Given the description of an element on the screen output the (x, y) to click on. 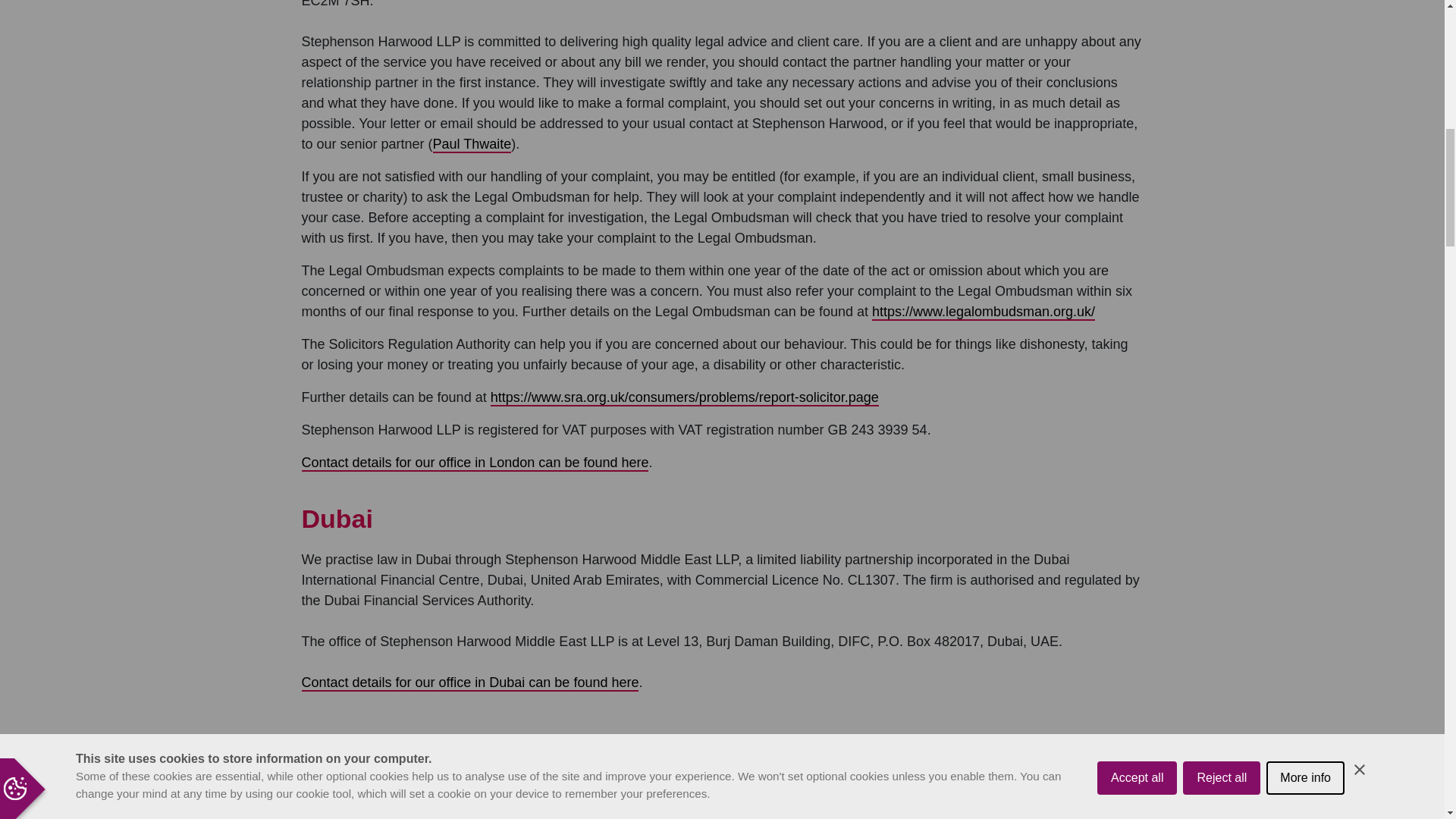
More info (1304, 2)
Contact details for our office in Dubai can be found here (470, 682)
Paul Thwaite (472, 144)
Reject all (1221, 9)
Accept all (1136, 17)
Contact details for our office in London can be found here (475, 463)
